Given the description of an element on the screen output the (x, y) to click on. 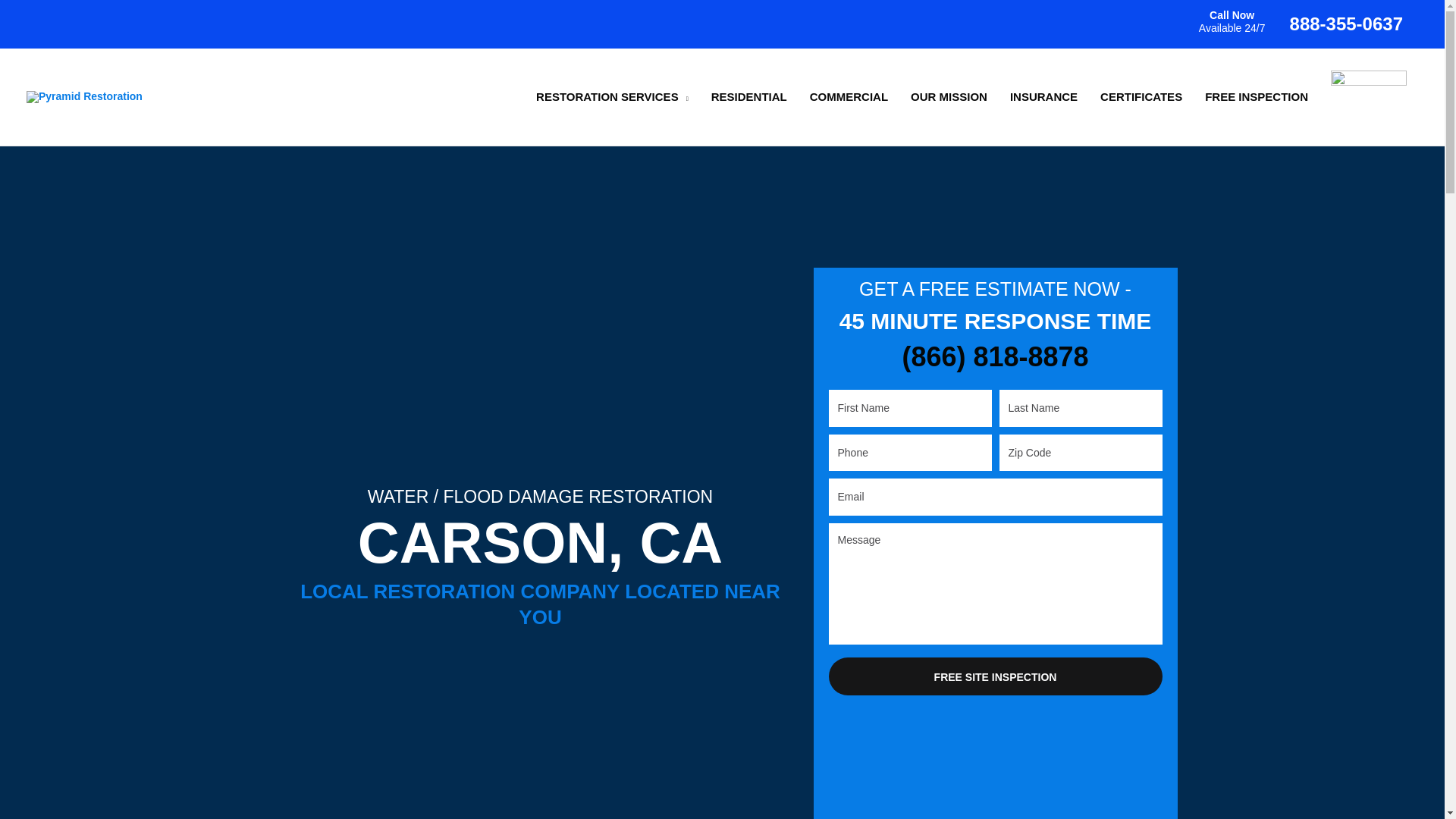
Free Site Inspection (994, 676)
CERTIFICATES (1141, 96)
OUR MISSION (948, 96)
RESTORATION SERVICES (612, 96)
888-355-0637 (1346, 23)
FREE INSPECTION (1256, 96)
Free Site Inspection (994, 676)
INSURANCE (1043, 96)
COMMERCIAL (848, 96)
RESIDENTIAL (748, 96)
